Given the description of an element on the screen output the (x, y) to click on. 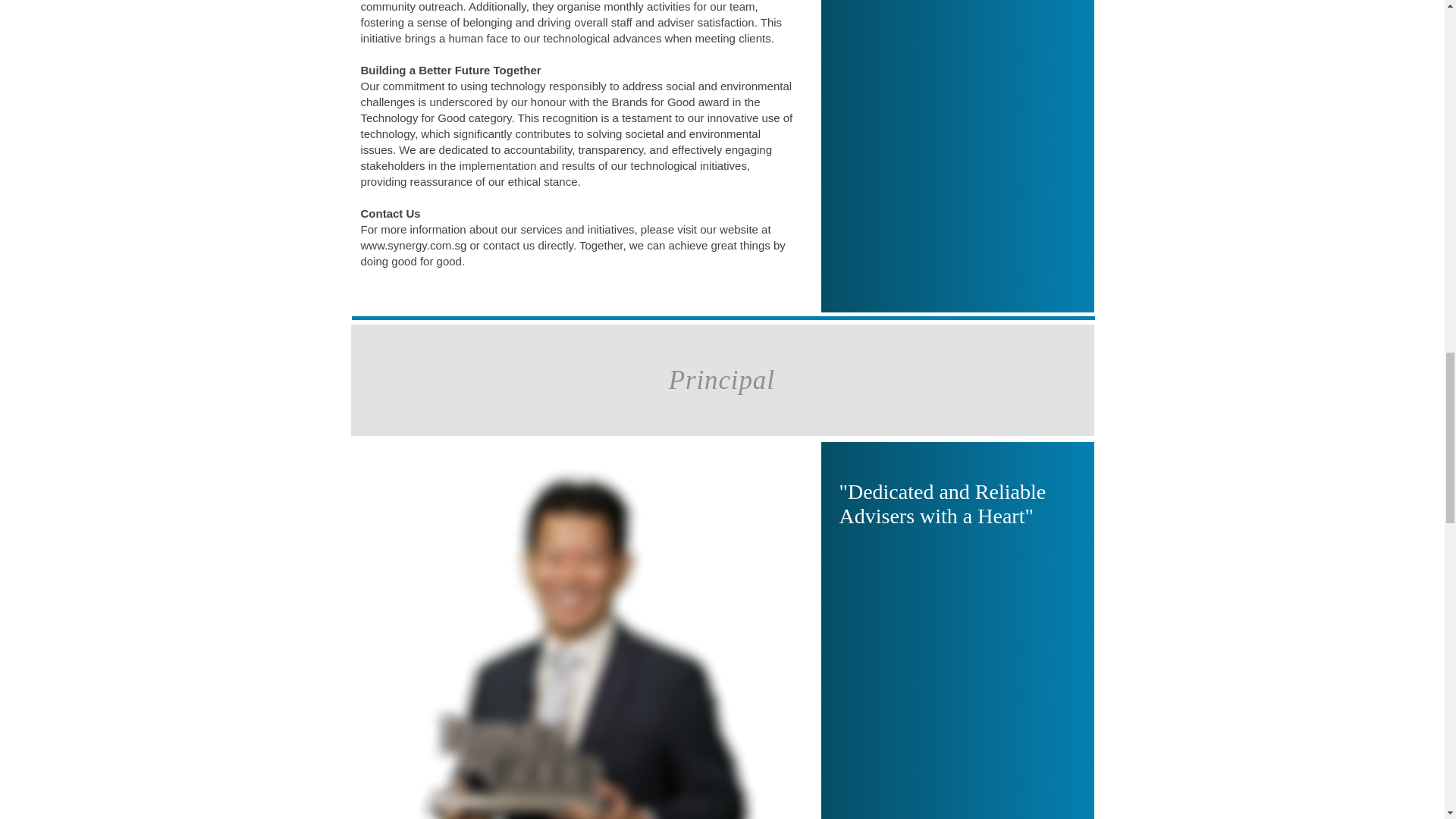
SYNERGY-3 Web.png (582, 639)
www.synergy.com.sg (414, 245)
Principal (721, 379)
